Given the description of an element on the screen output the (x, y) to click on. 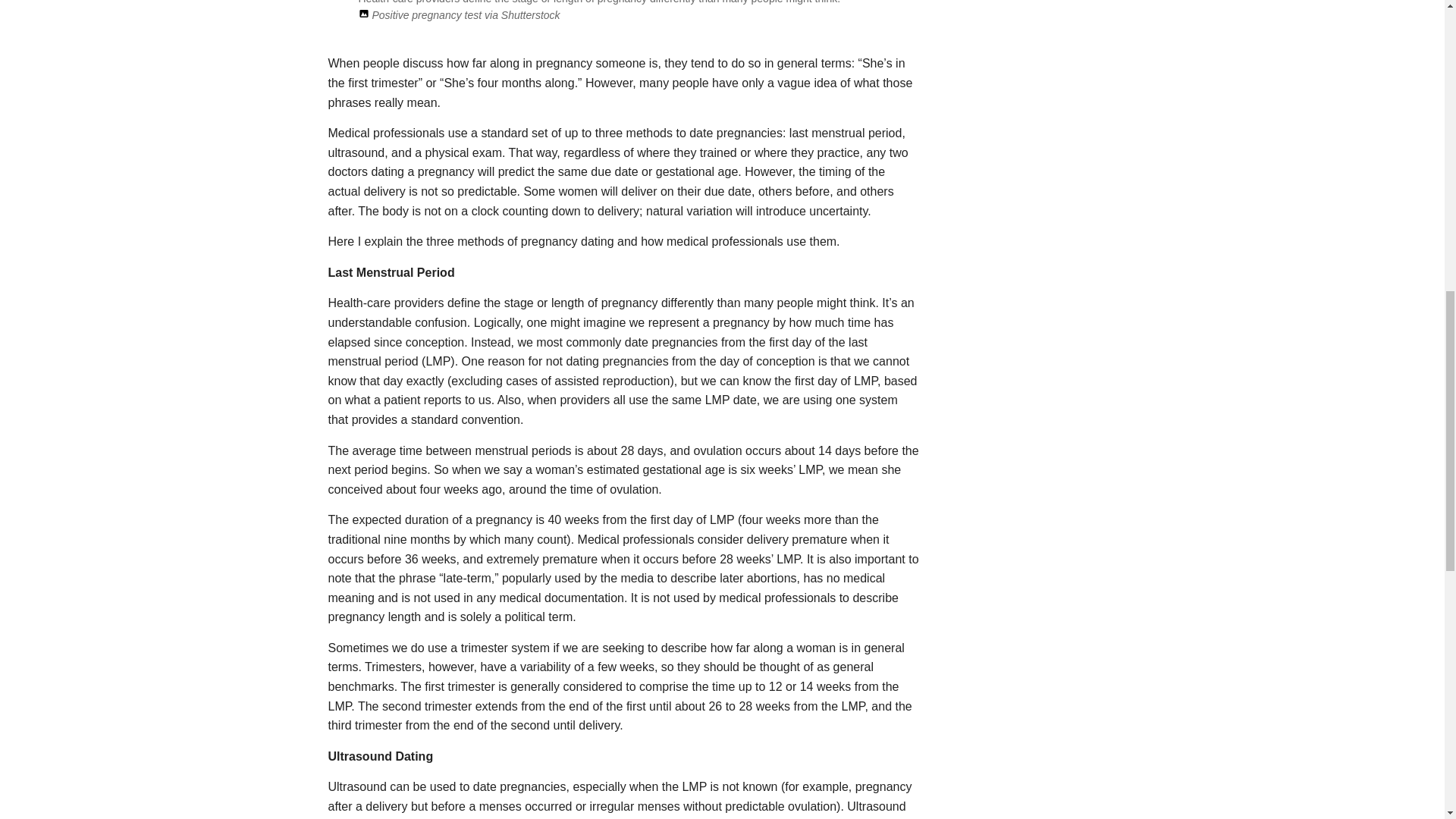
Positive pregnancy test via Shutterstock (465, 15)
